Given the description of an element on the screen output the (x, y) to click on. 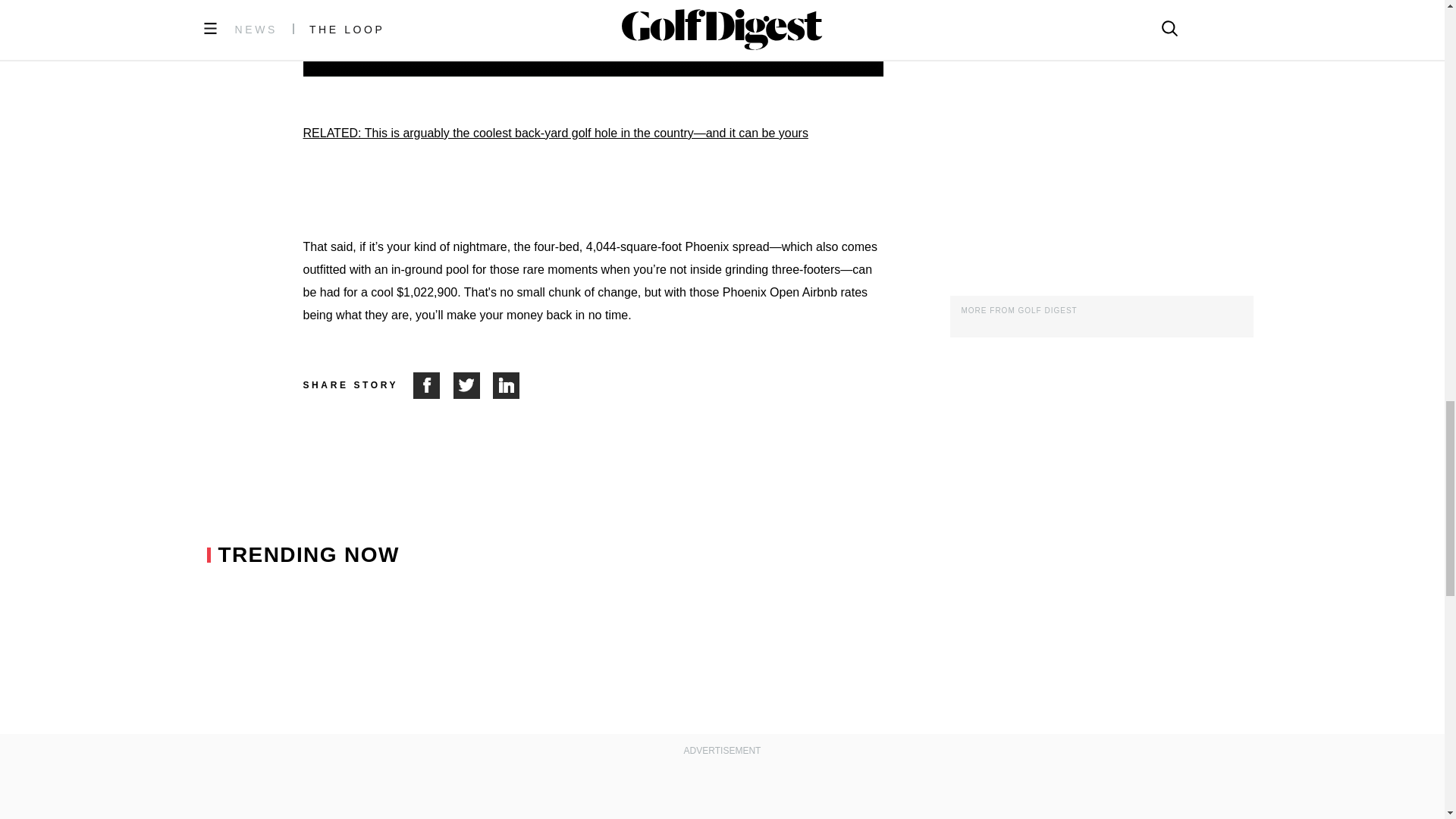
Share on Twitter (472, 385)
Share on Facebook (432, 385)
Share on LinkedIn (506, 385)
